Given the description of an element on the screen output the (x, y) to click on. 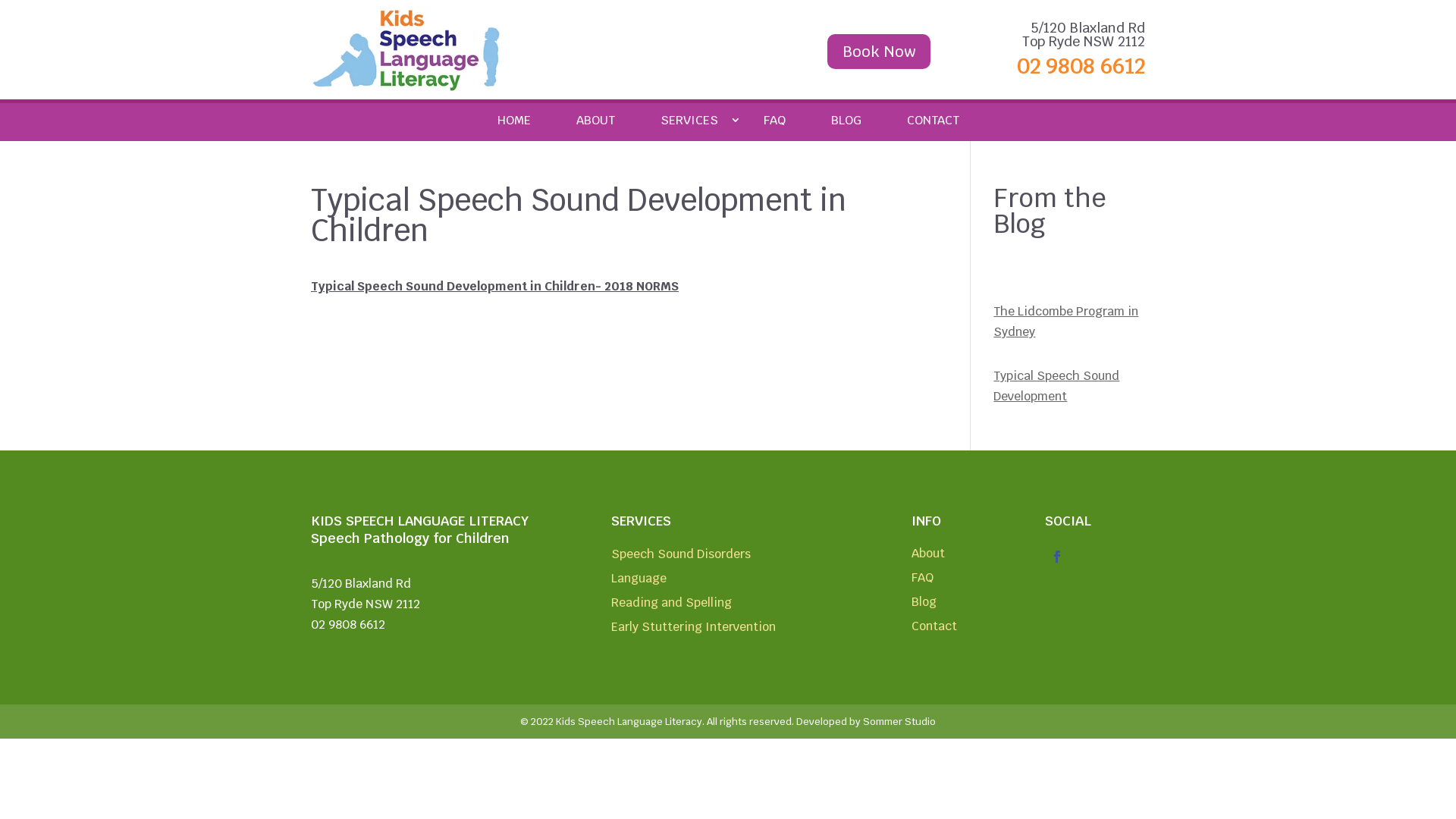
logo Element type: hover (405, 49)
HOME Element type: text (513, 120)
BLOG Element type: text (846, 120)
Early Stuttering Intervention Element type: text (693, 630)
Speech Sound Disorders Element type: text (680, 557)
Language Element type: text (638, 581)
Reading and Spelling Element type: text (671, 605)
Typical Speech Sound Development Element type: text (1056, 385)
FAQ Element type: text (773, 120)
About Element type: text (927, 556)
Follow on Facebook Element type: hover (1056, 556)
Blog Element type: text (923, 605)
The Lidcombe Program in Sydney Element type: text (1065, 321)
ABOUT Element type: text (595, 120)
Book Now Element type: text (878, 51)
Contact Element type: text (934, 629)
Typical Speech Sound Development in Children- 2018 NORMS Element type: text (494, 286)
02 9808 6612 Element type: text (1077, 65)
CONTACT Element type: text (933, 120)
FAQ Element type: text (922, 580)
SERVICES Element type: text (688, 120)
